Given the description of an element on the screen output the (x, y) to click on. 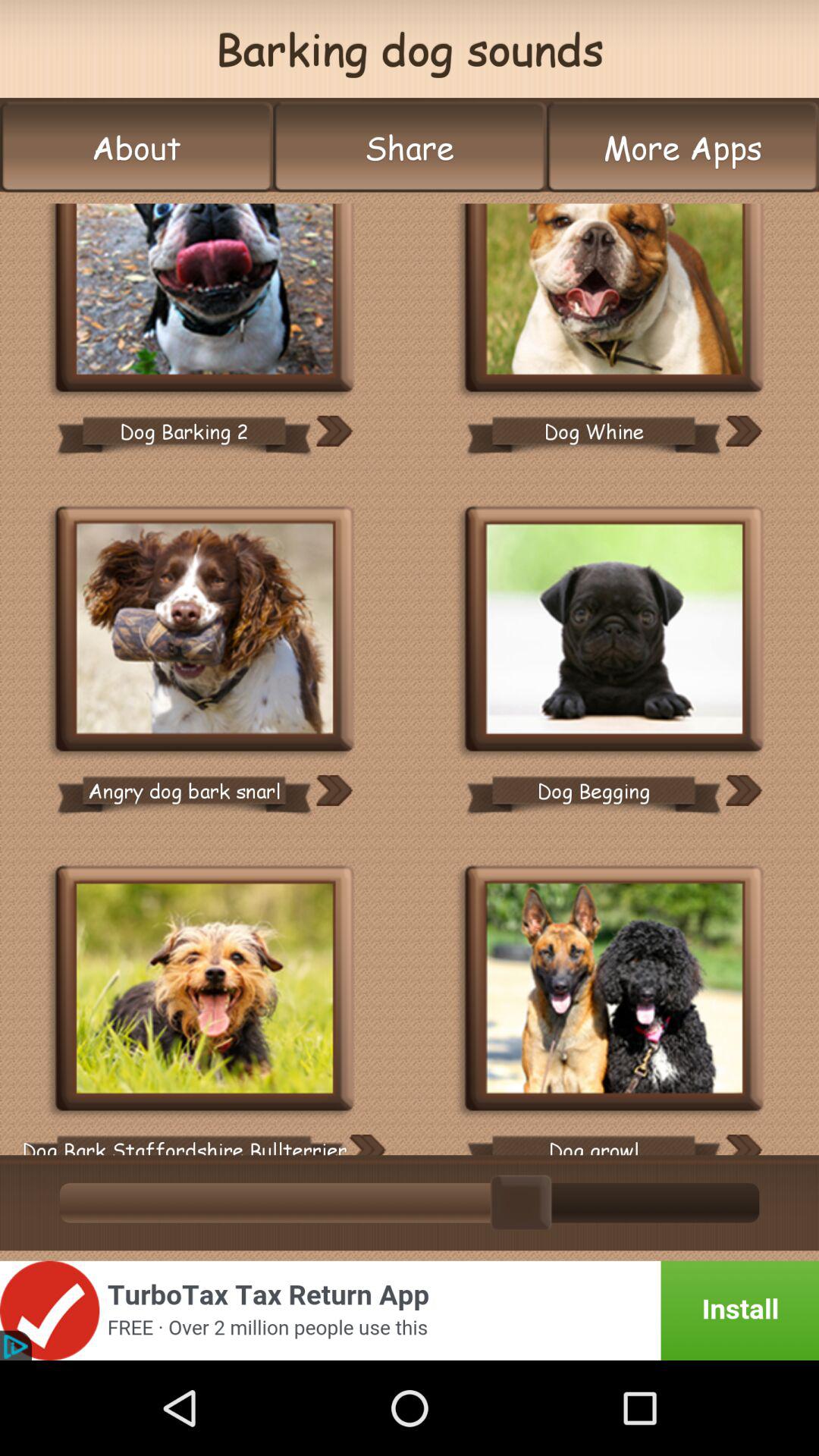
turn on app below the barking dog sounds icon (409, 147)
